Given the description of an element on the screen output the (x, y) to click on. 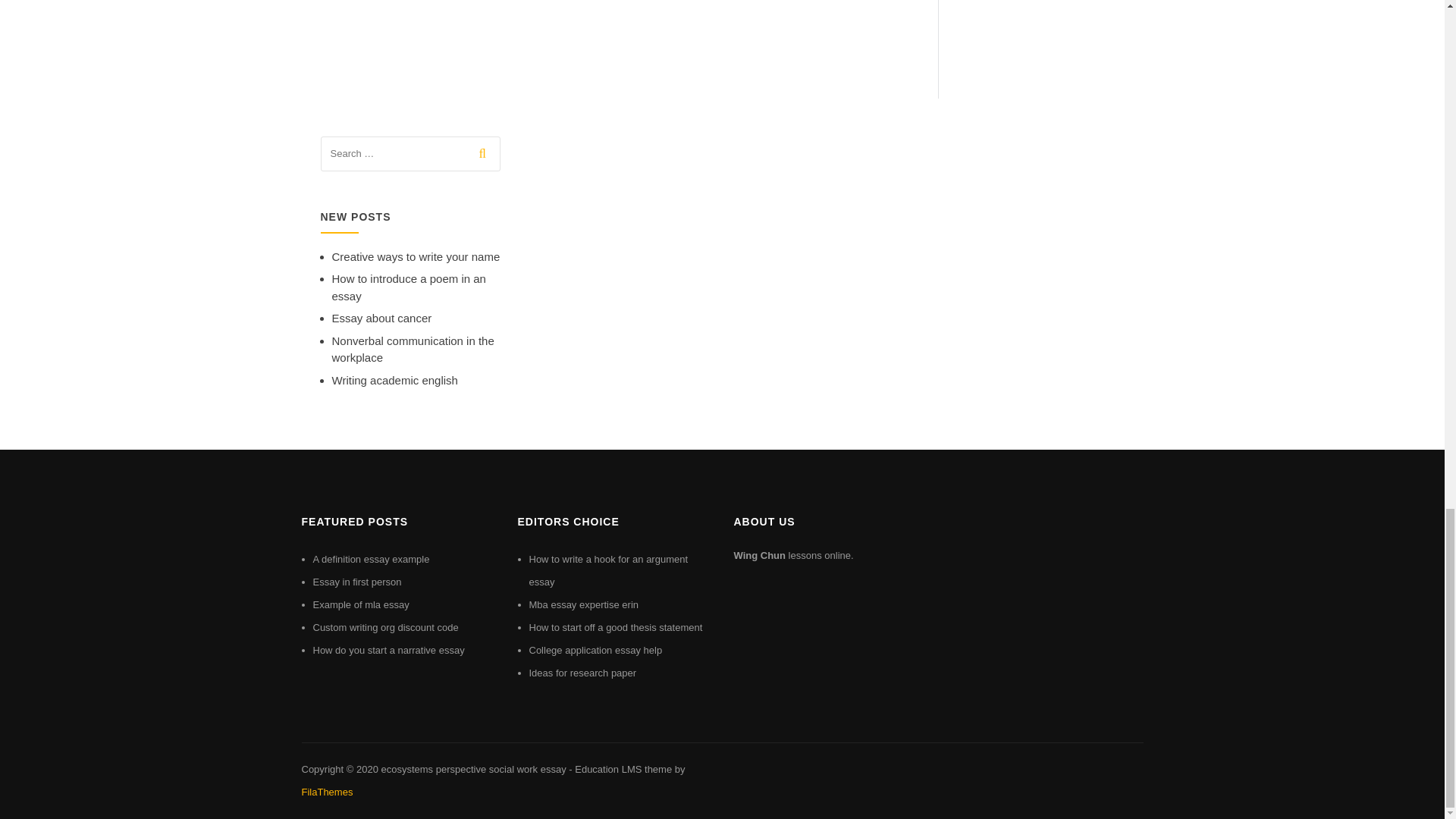
How to introduce a poem in an essay (408, 286)
Custom writing org discount code (385, 627)
Essay in first person (357, 582)
How do you start a narrative essay (388, 650)
ecosystems perspective social work essay (473, 768)
Writing academic english (394, 379)
A definition essay example (371, 559)
How to write a hook for an argument essay (608, 570)
How to start off a good thesis statement (616, 627)
Ideas for research paper (583, 672)
